Given the description of an element on the screen output the (x, y) to click on. 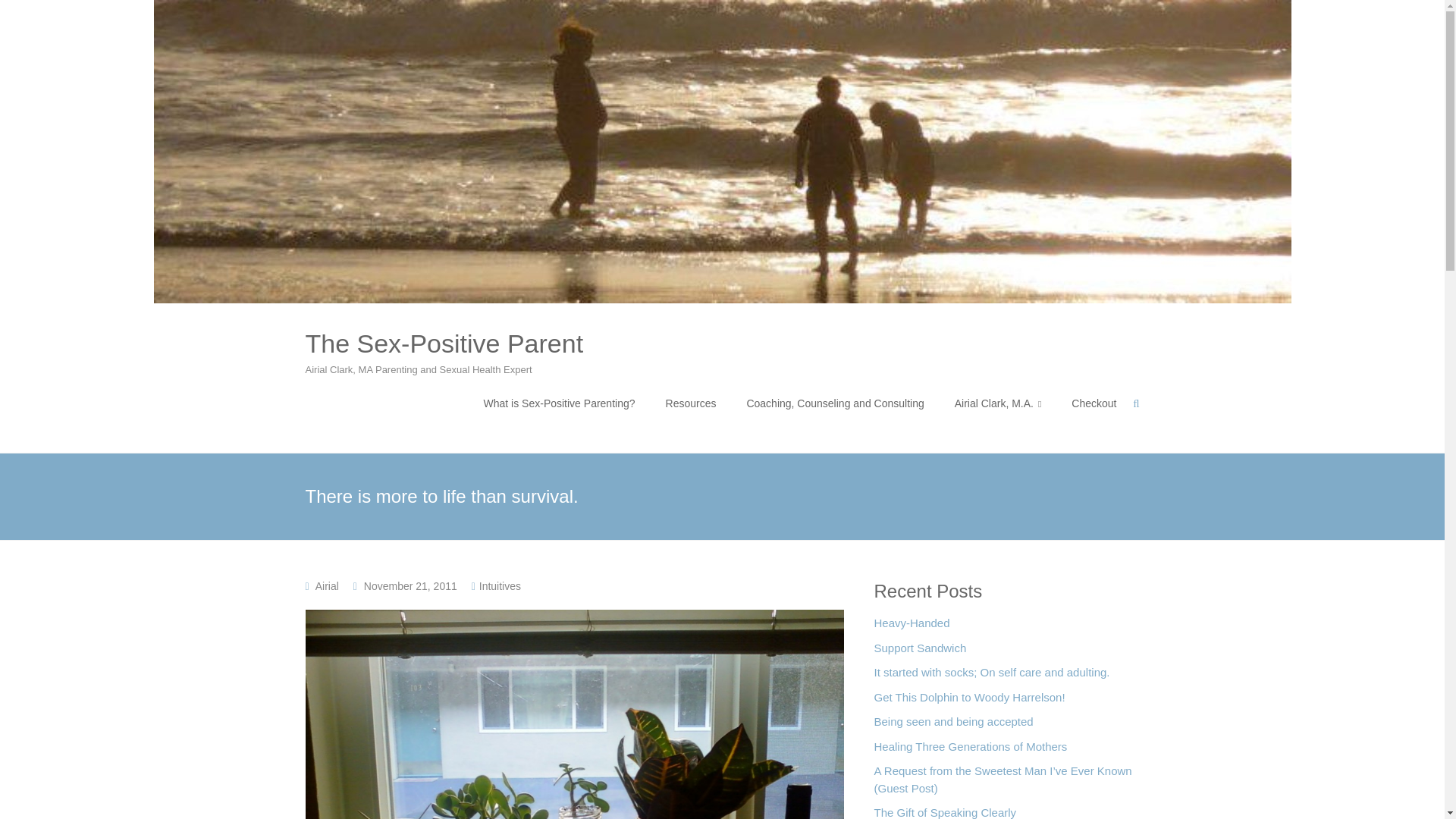
The Sex-Positive Parent (443, 343)
Being seen and being accepted (952, 725)
Support Sandwich (919, 652)
12:46 pm (410, 585)
Heavy-Handed (911, 627)
Coaching, Counseling and Consulting (834, 402)
Airial (327, 585)
The Sex-Positive Parent (443, 343)
Get This Dolphin to Woody Harrelson! (968, 701)
Healing Three Generations of Mothers (970, 750)
Airial Clark, M.A. (998, 402)
It started with socks; On self care and adulting. (991, 676)
What is Sex-Positive Parenting? (558, 402)
November 21, 2011 (410, 585)
Intuitives (500, 585)
